Given the description of an element on the screen output the (x, y) to click on. 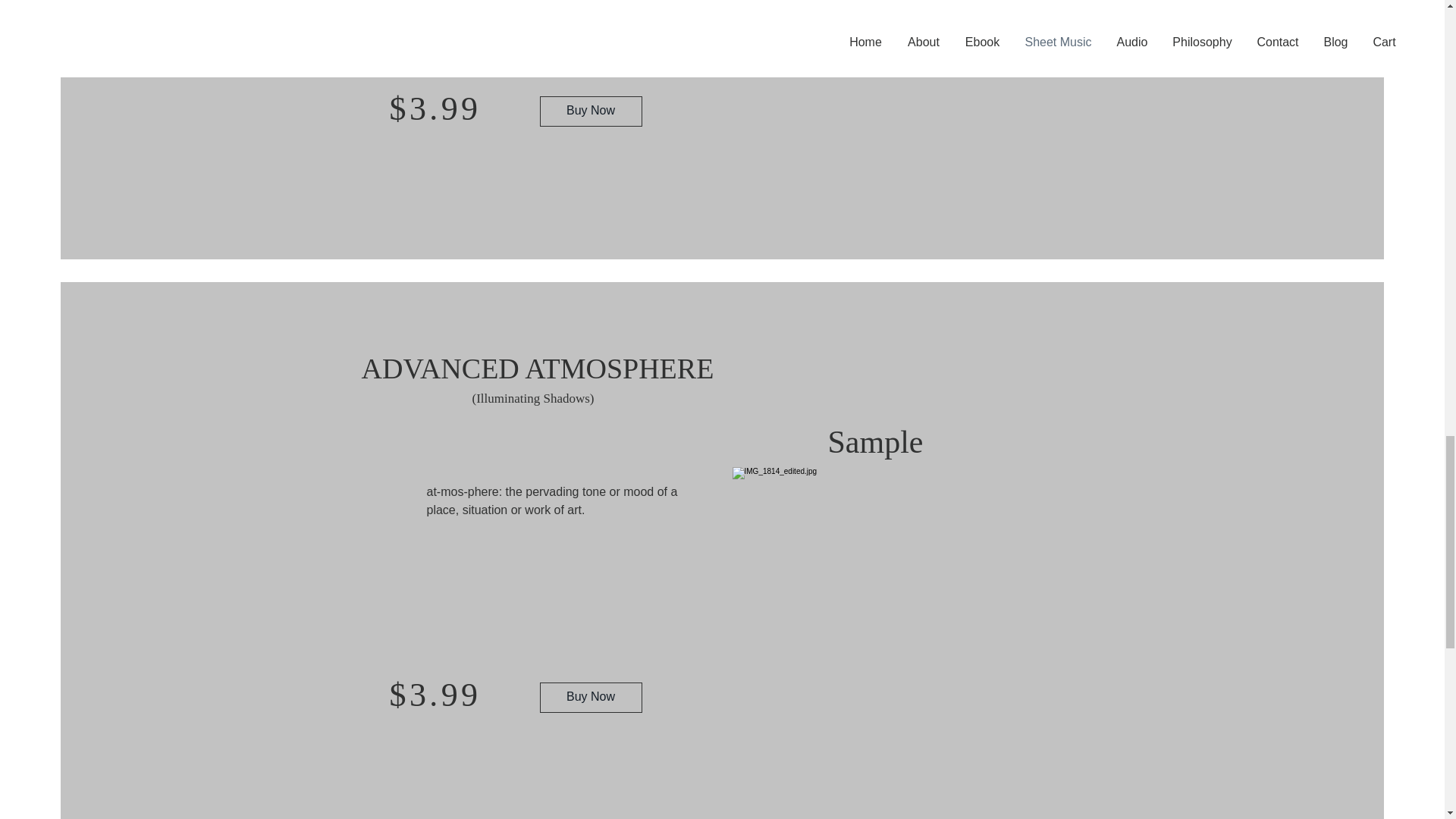
Buy Now (591, 111)
Buy Now (591, 96)
Buy Now (591, 697)
